Given the description of an element on the screen output the (x, y) to click on. 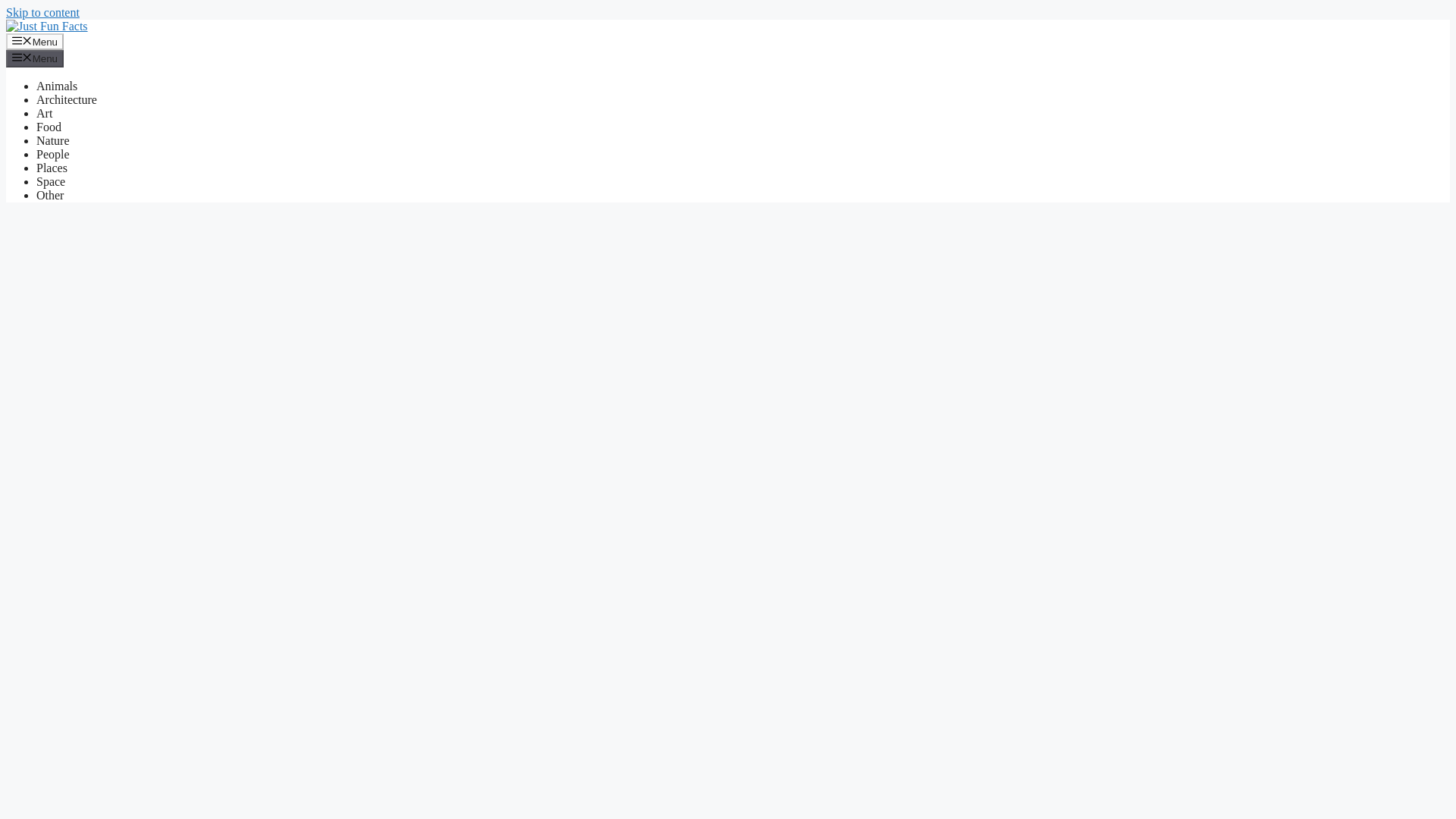
Art (44, 113)
Places (51, 167)
Menu (34, 41)
Menu (34, 57)
Food (48, 126)
Animals (56, 85)
Space (50, 181)
Nature (52, 140)
Architecture (66, 99)
Skip to content (42, 11)
Skip to content (42, 11)
People (52, 154)
